Given the description of an element on the screen output the (x, y) to click on. 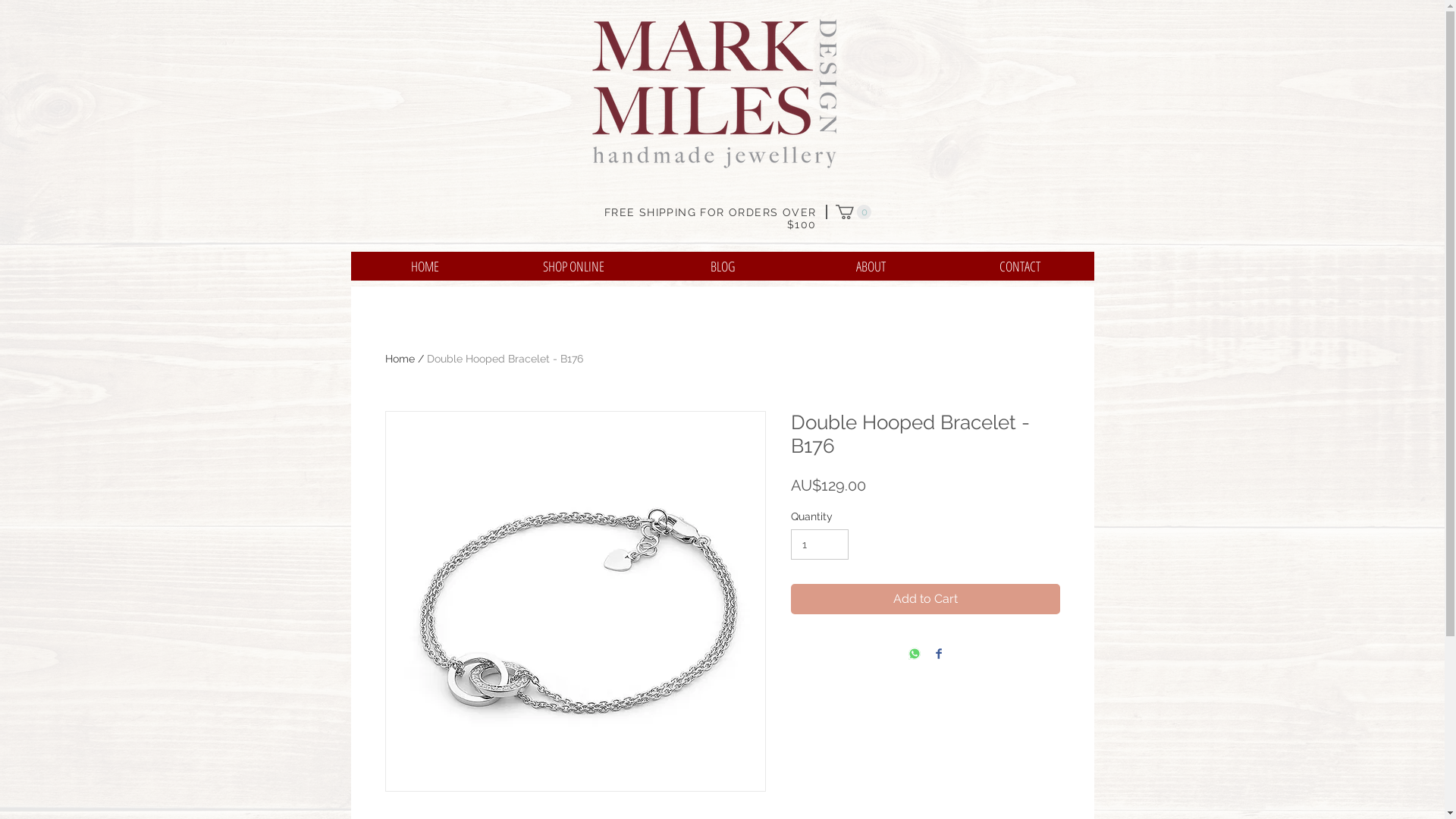
CONTACT Element type: text (1018, 265)
HOME Element type: text (424, 265)
ABOUT Element type: text (870, 265)
Add to Cart Element type: text (924, 598)
Home Element type: text (399, 358)
0 Element type: text (853, 211)
BLOG Element type: text (721, 265)
